Given the description of an element on the screen output the (x, y) to click on. 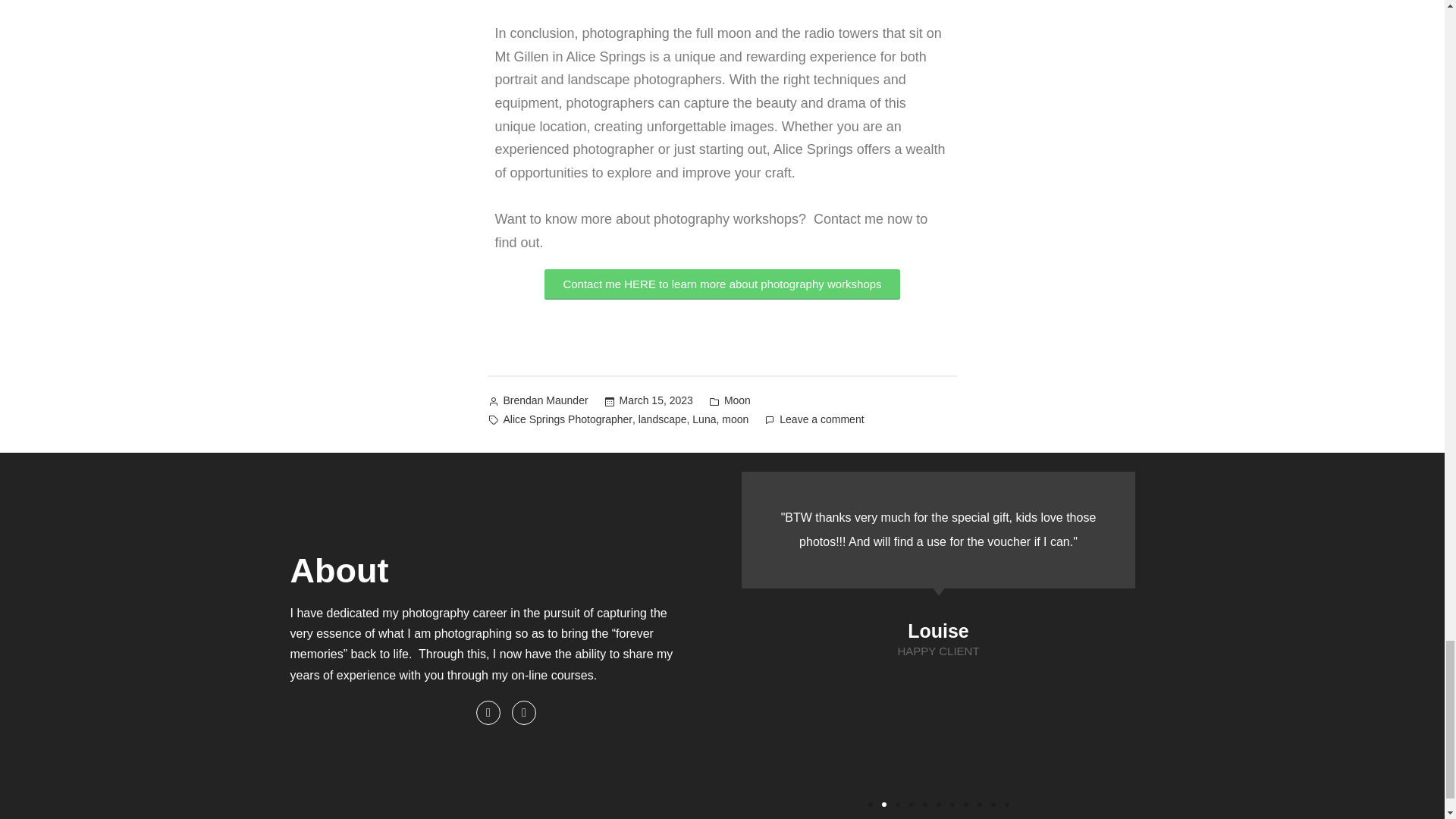
Brendan Maunder (545, 401)
Alice Springs Photographer (567, 420)
Moon (737, 401)
Leave a comment (820, 420)
Contact me HERE to learn more about photography workshops (721, 284)
landscape (663, 420)
moon (735, 420)
March 15, 2023 (656, 401)
Luna (704, 420)
